Given the description of an element on the screen output the (x, y) to click on. 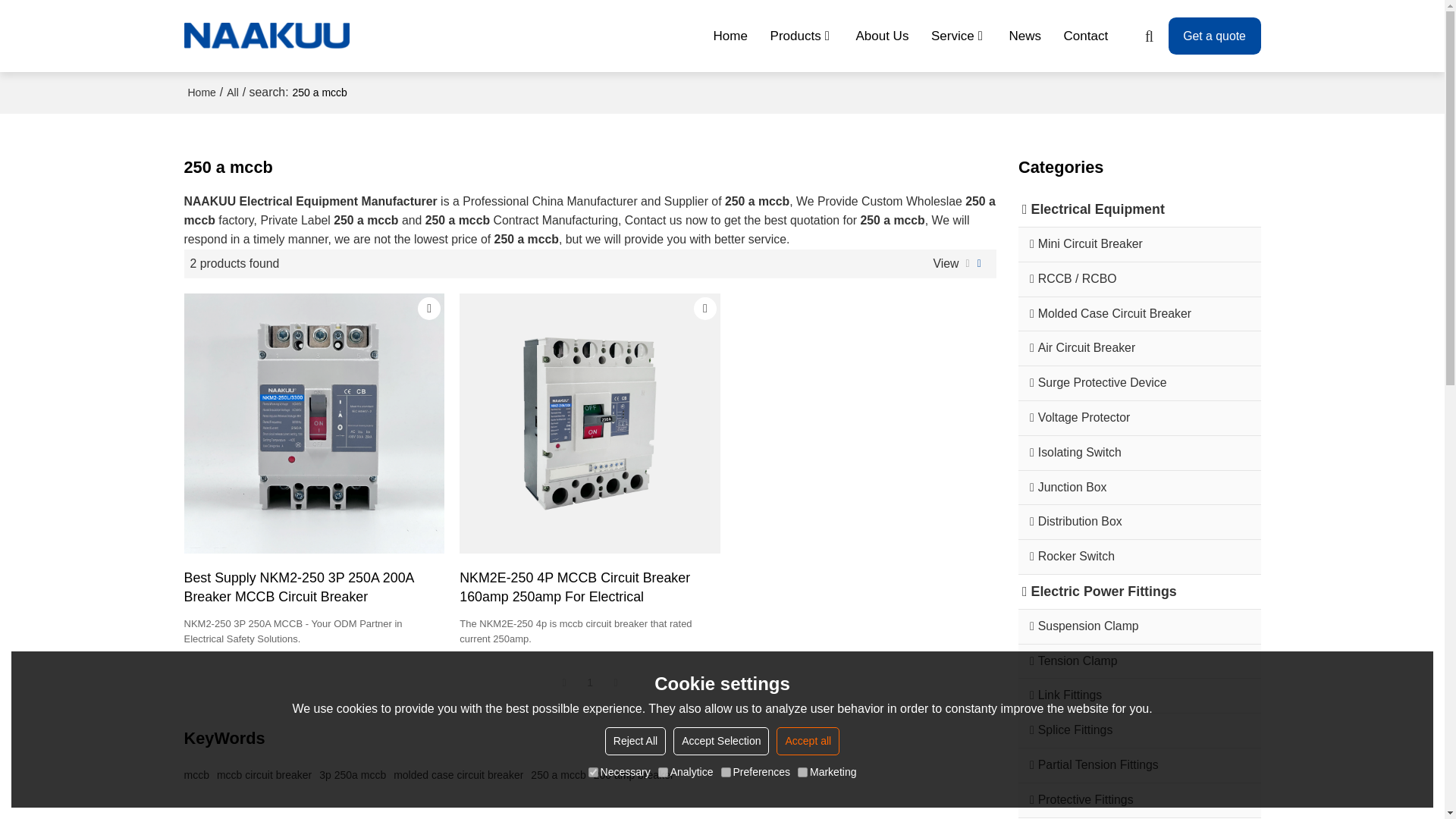
Get a quote (1214, 36)
Service (958, 36)
Naakuu Power Hitech Co., Ltd (266, 36)
on (725, 772)
on (663, 772)
Products (801, 36)
on (593, 772)
Products (801, 36)
on (802, 772)
About Us (882, 36)
